Given the description of an element on the screen output the (x, y) to click on. 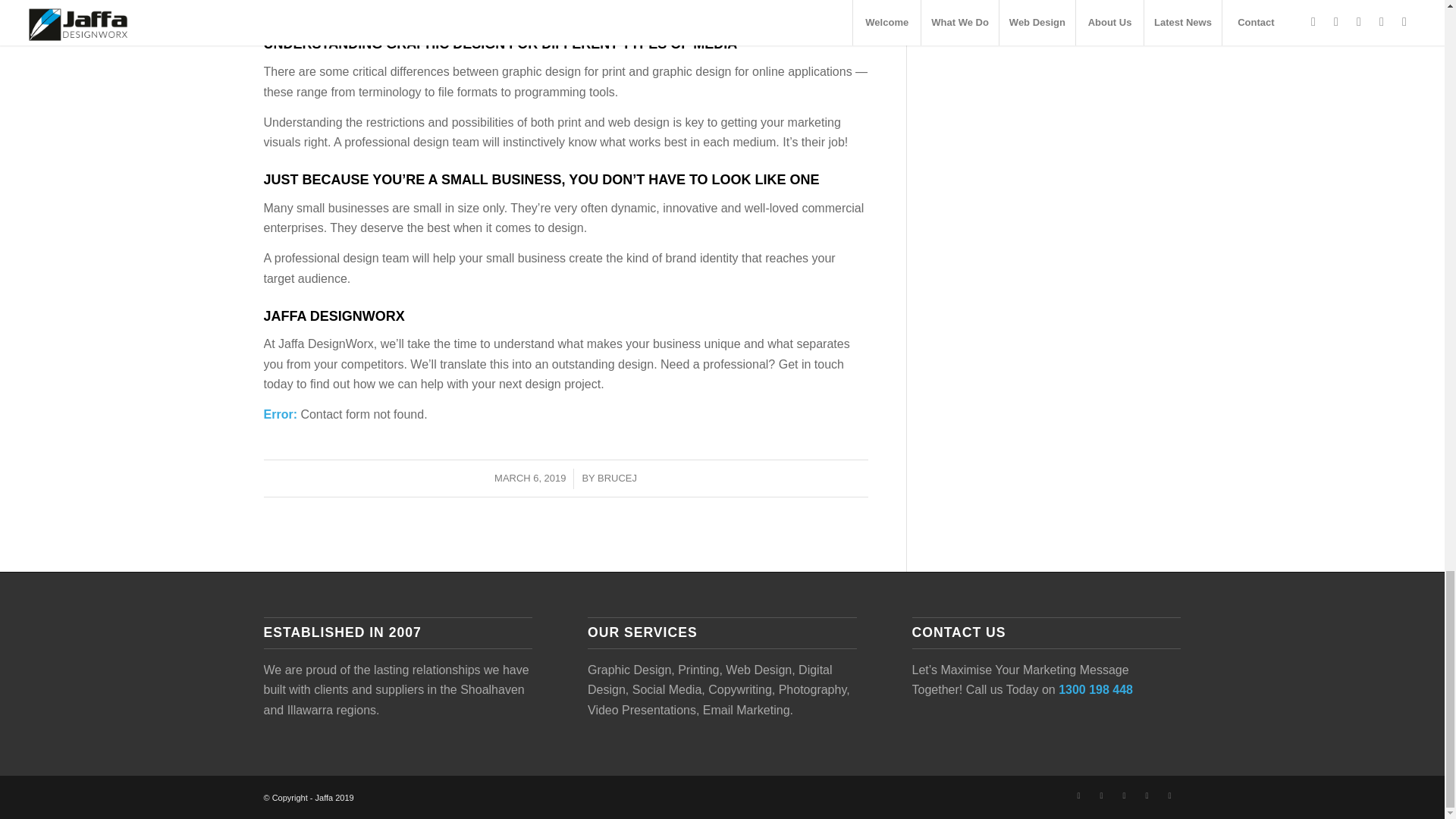
Youtube (1124, 794)
Instagram (1101, 794)
BRUCEJ (616, 478)
Posts by brucej (616, 478)
Facebook (1078, 794)
Linkedin (1146, 794)
